Given the description of an element on the screen output the (x, y) to click on. 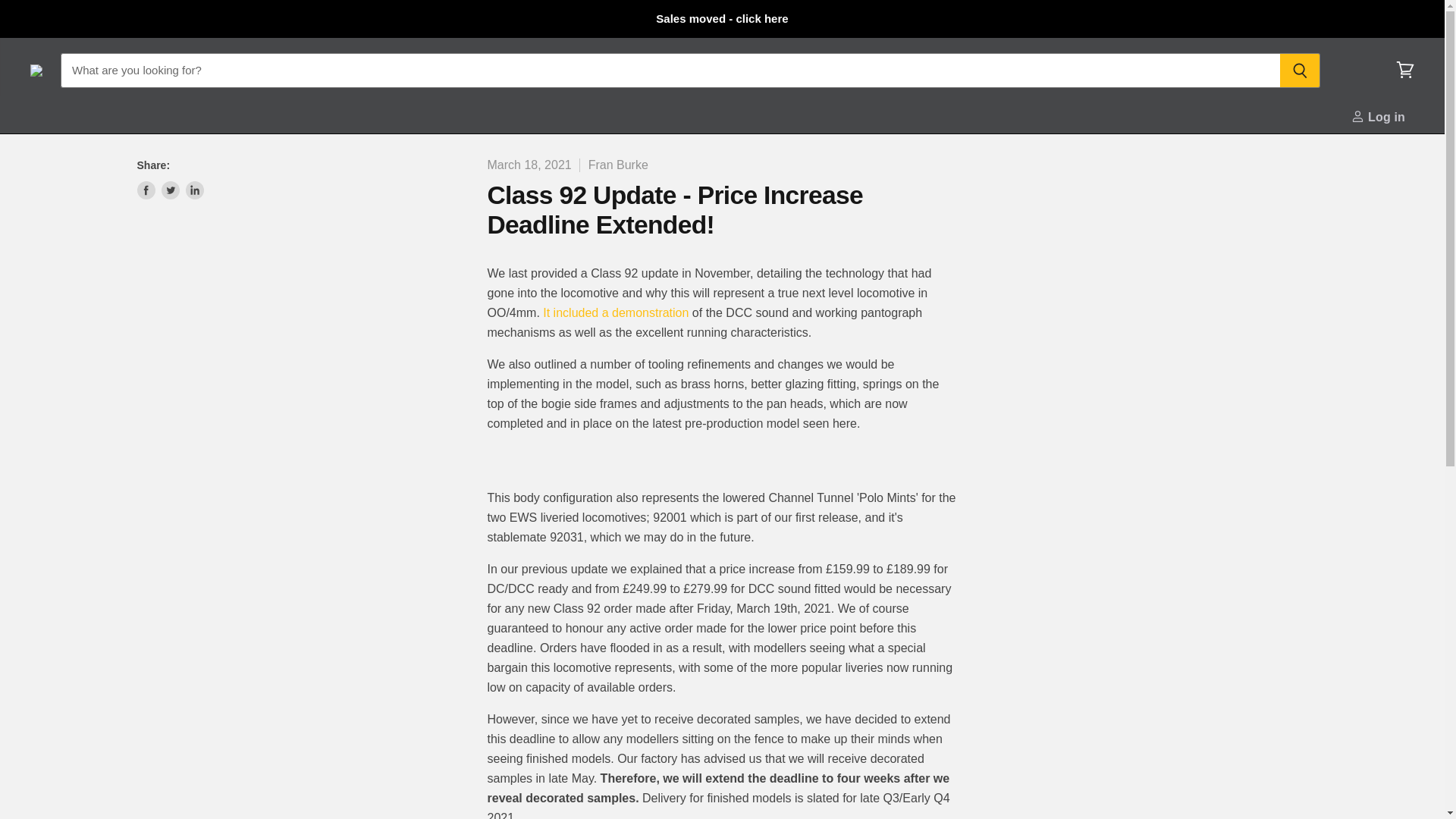
Tweet on Twitter (169, 189)
View cart (1405, 70)
Account icon Log in (1381, 117)
It included a demonstration (615, 312)
Account icon (1357, 115)
Share on LinkedIn (193, 189)
Share on Facebook (145, 189)
